Given the description of an element on the screen output the (x, y) to click on. 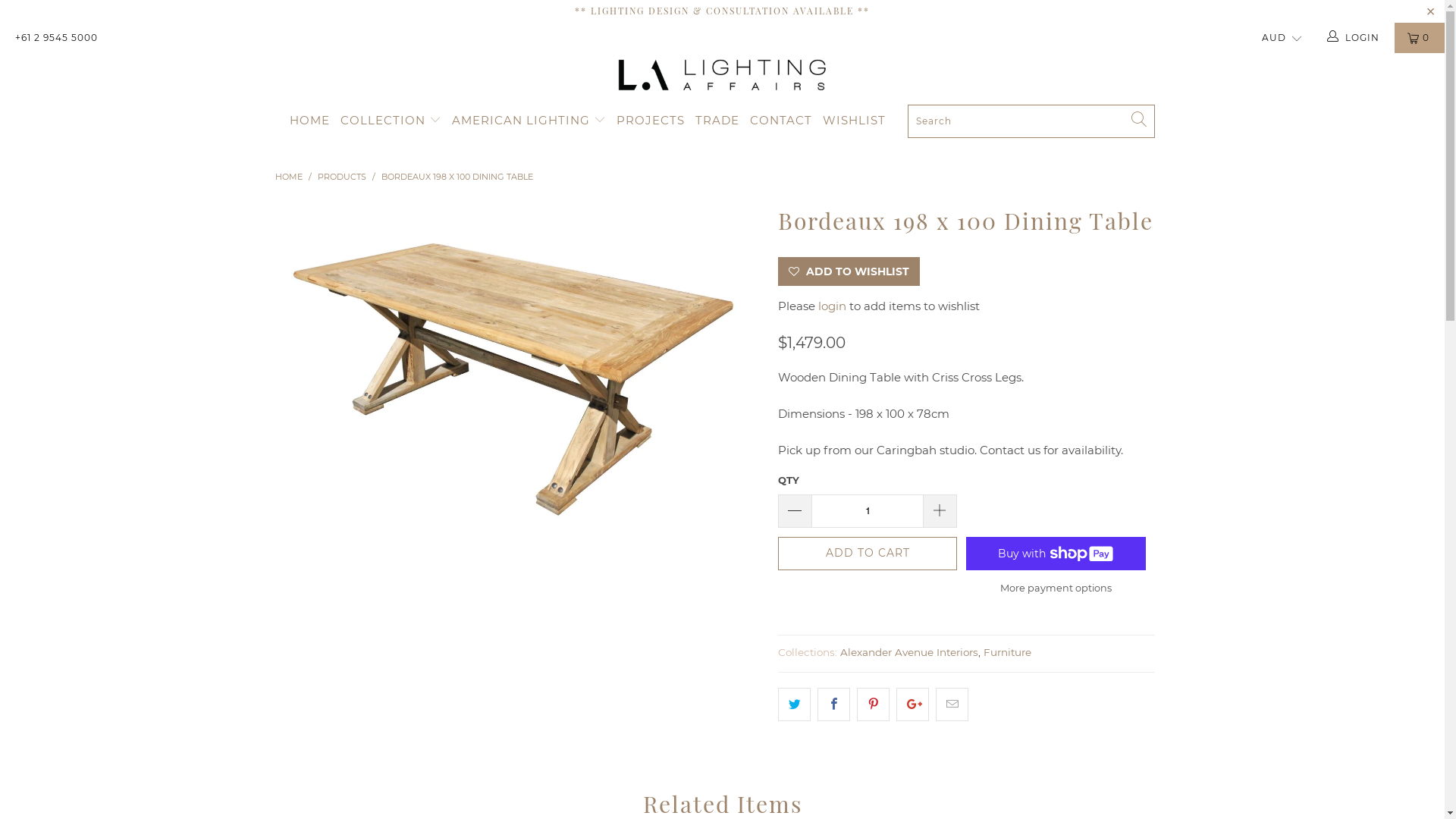
PROJECTS Element type: text (650, 120)
Alexander Avenue Interiors Element type: text (909, 652)
Email this to a friend Element type: hover (951, 704)
LOGIN Element type: text (1354, 37)
Share this on Google+ Element type: hover (912, 704)
HOME Element type: text (287, 176)
HOME Element type: text (309, 120)
Furniture Element type: text (1007, 652)
TRADE Element type: text (717, 120)
BORDEAUX 198 X 100 DINING TABLE Element type: text (456, 176)
ADD TO CART Element type: text (867, 553)
PRODUCTS Element type: text (341, 176)
Share this on Facebook Element type: hover (833, 704)
CONTACT Element type: text (780, 120)
Share this on Pinterest Element type: hover (872, 704)
+61 2 9545 5000 Element type: text (56, 37)
WISHLIST Element type: text (853, 120)
Lighting Affairs Element type: hover (722, 75)
More payment options Element type: text (1055, 586)
0 Element type: text (1419, 37)
Share this on Twitter Element type: hover (794, 704)
AMERICAN LIGHTING Element type: text (528, 120)
login Element type: text (832, 305)
COLLECTION Element type: text (390, 120)
